Given the description of an element on the screen output the (x, y) to click on. 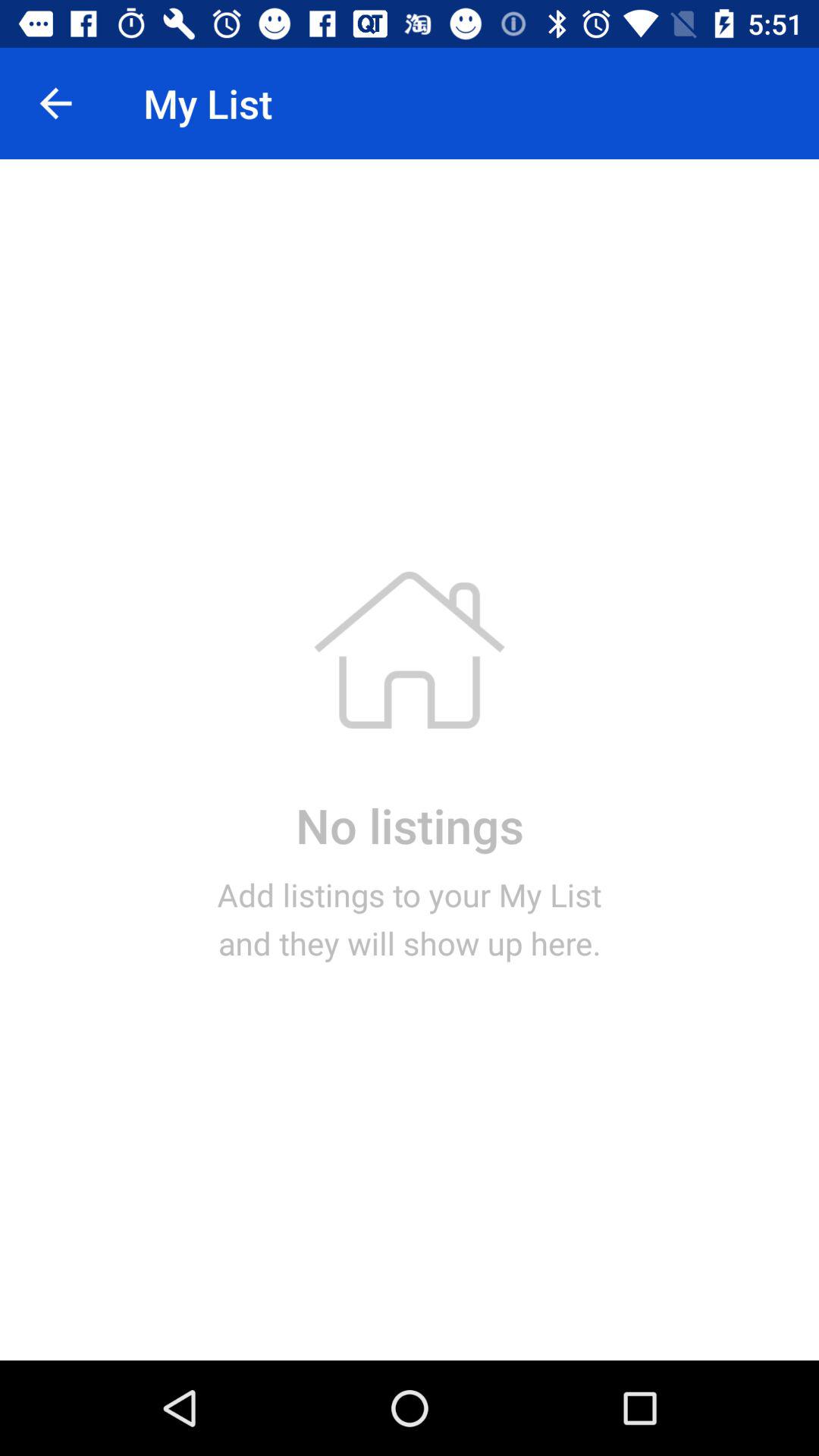
press icon next to my list app (55, 103)
